Given the description of an element on the screen output the (x, y) to click on. 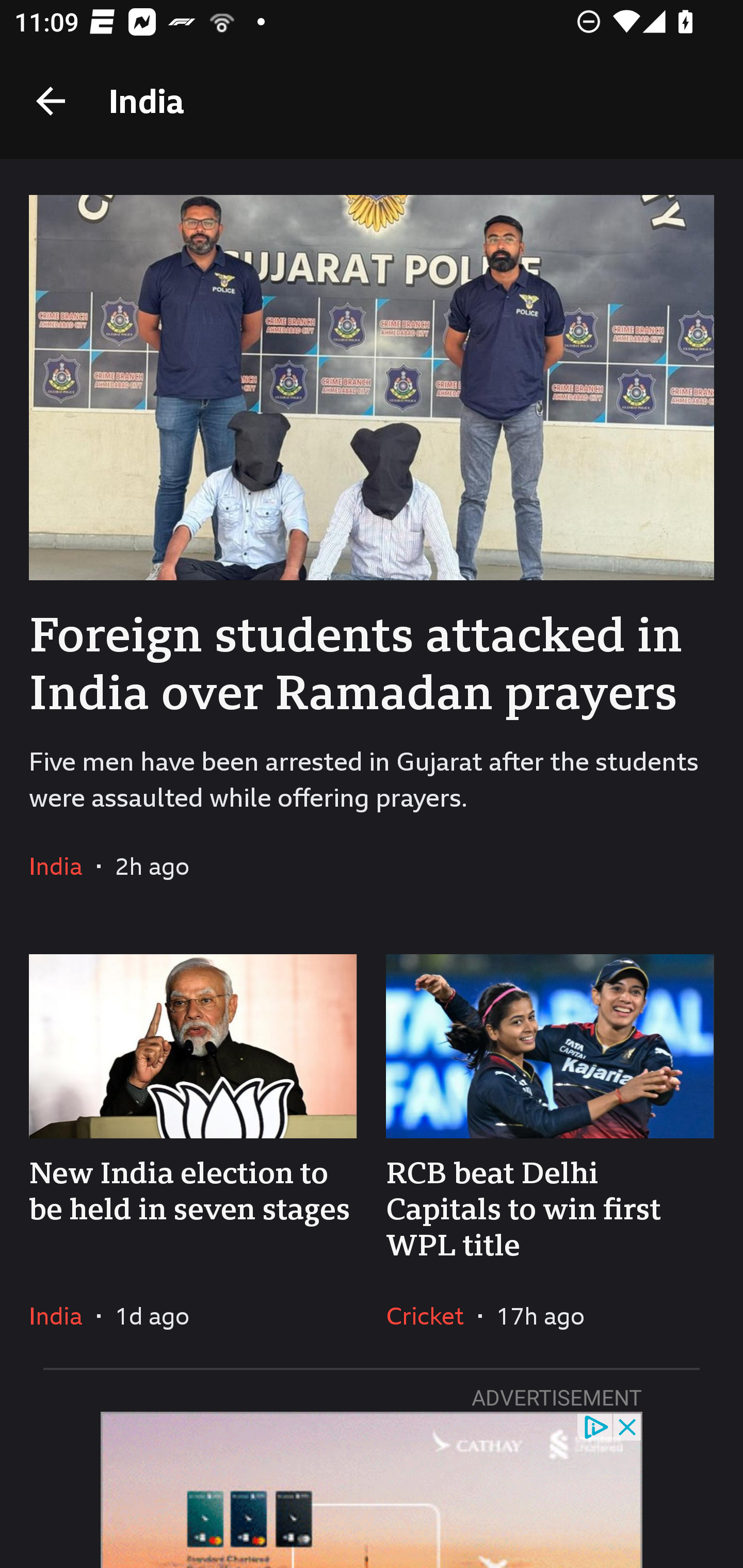
Back (50, 101)
India In the section India (62, 865)
India In the section India (62, 1315)
Cricket In the section Cricket (431, 1315)
privacy_small (595, 1425)
close_button (627, 1425)
